Given the description of an element on the screen output the (x, y) to click on. 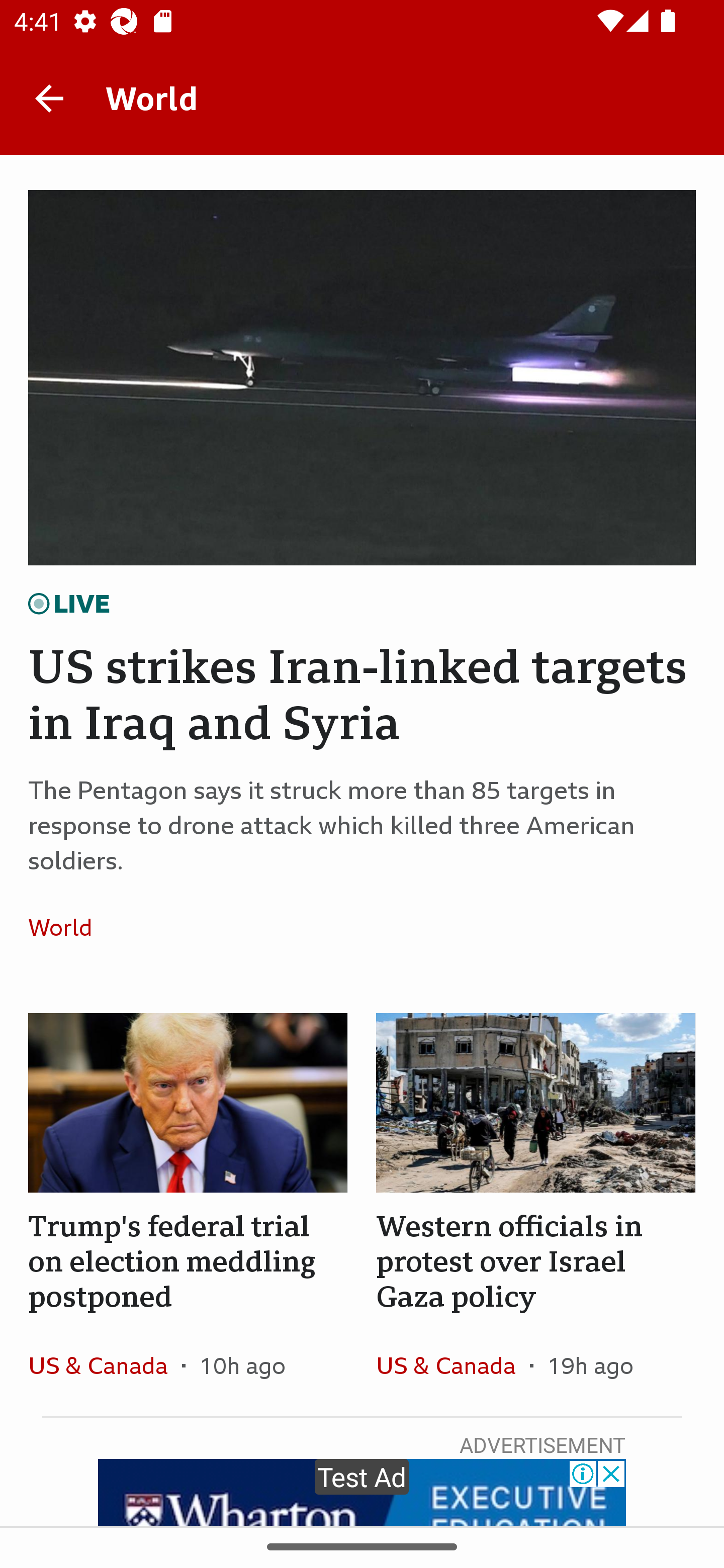
Back (49, 97)
World In the section World (67, 927)
US & Canada In the section US & Canada (104, 1364)
US & Canada In the section US & Canada (452, 1364)
Advertisement (361, 1491)
